Given the description of an element on the screen output the (x, y) to click on. 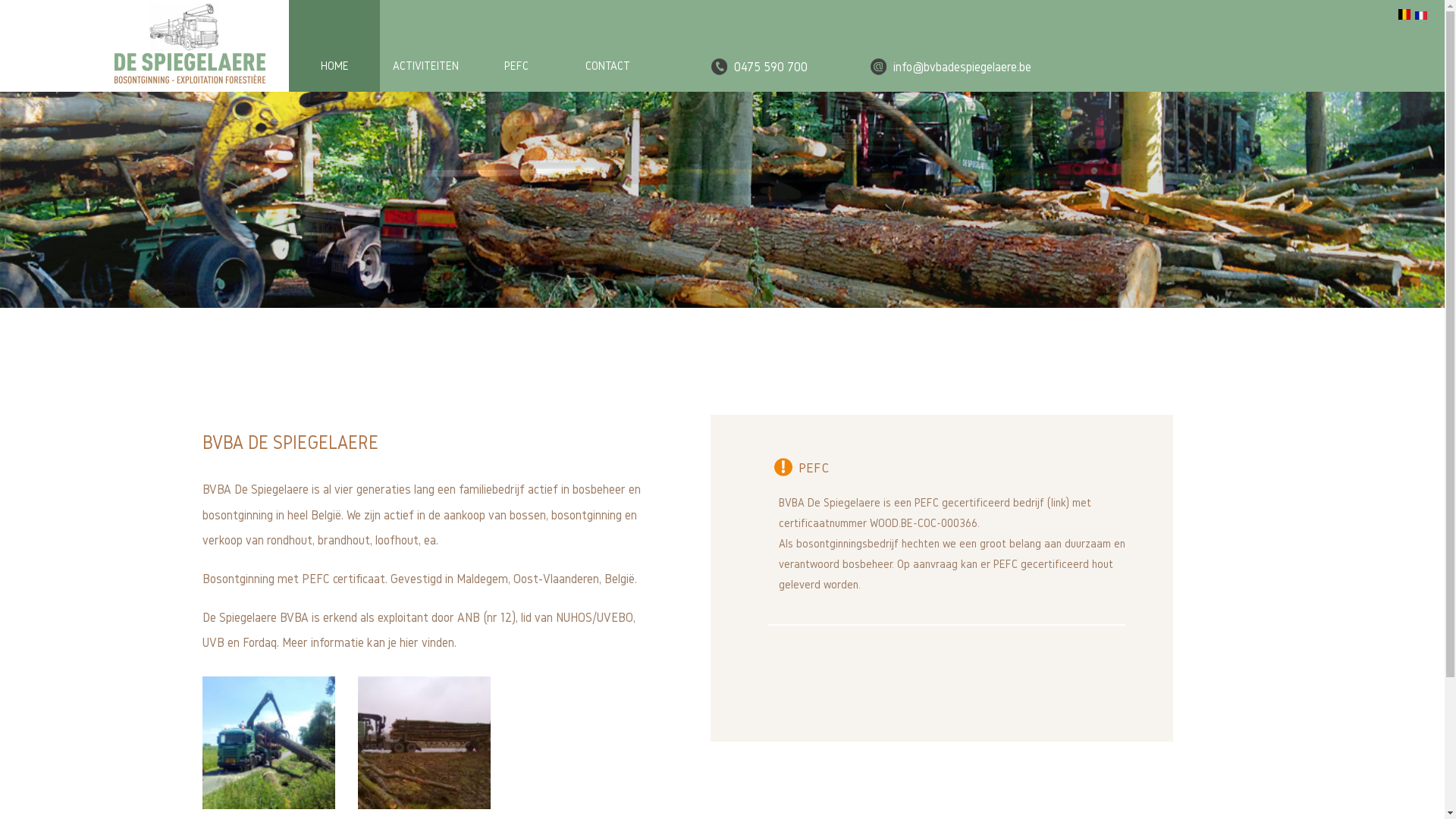
HOME Element type: text (333, 47)
PEFC Element type: text (515, 47)
CONTACT Element type: text (606, 47)
fr_FR Element type: text (1420, 15)
ACTIVITEITEN Element type: text (424, 47)
nl_BE Element type: text (1404, 14)
info@bvbadespiegelaere.be Element type: text (962, 66)
